Given the description of an element on the screen output the (x, y) to click on. 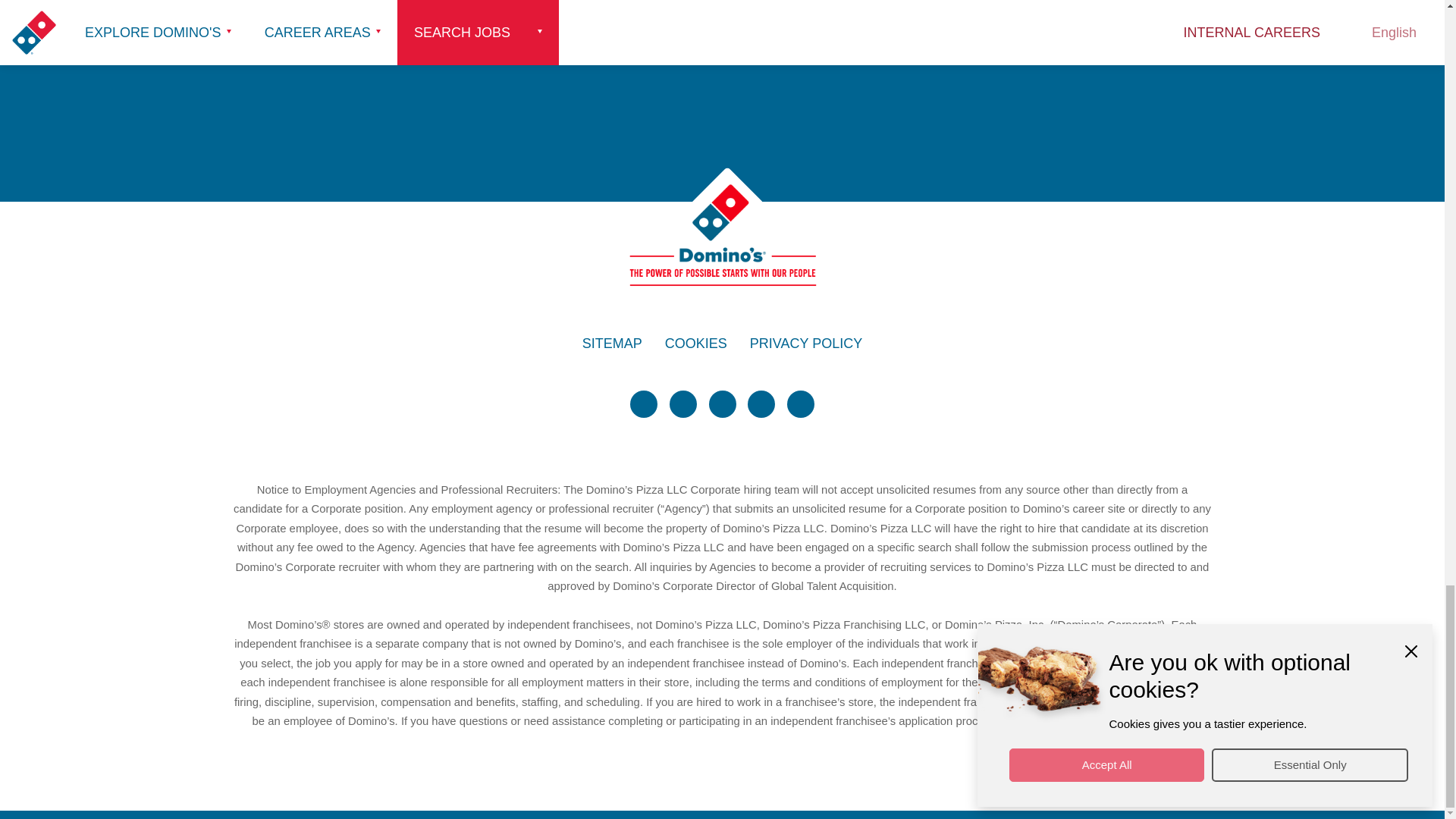
Glassdoor (800, 403)
Twitter (644, 403)
Facebook (683, 403)
YouTube (761, 403)
LinkedIn (721, 403)
